Given the description of an element on the screen output the (x, y) to click on. 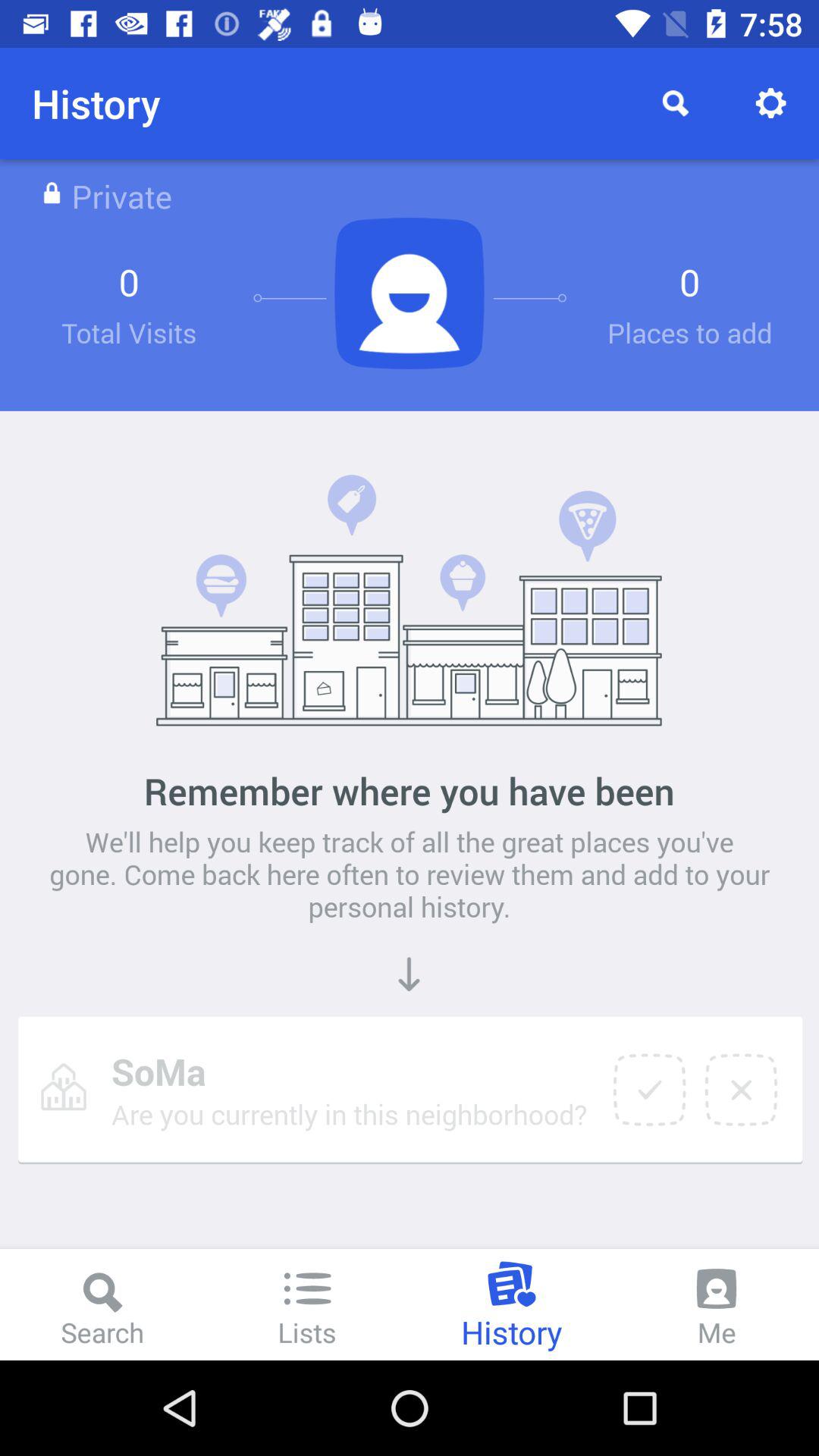
tap item below the we ll help item (741, 1089)
